Given the description of an element on the screen output the (x, y) to click on. 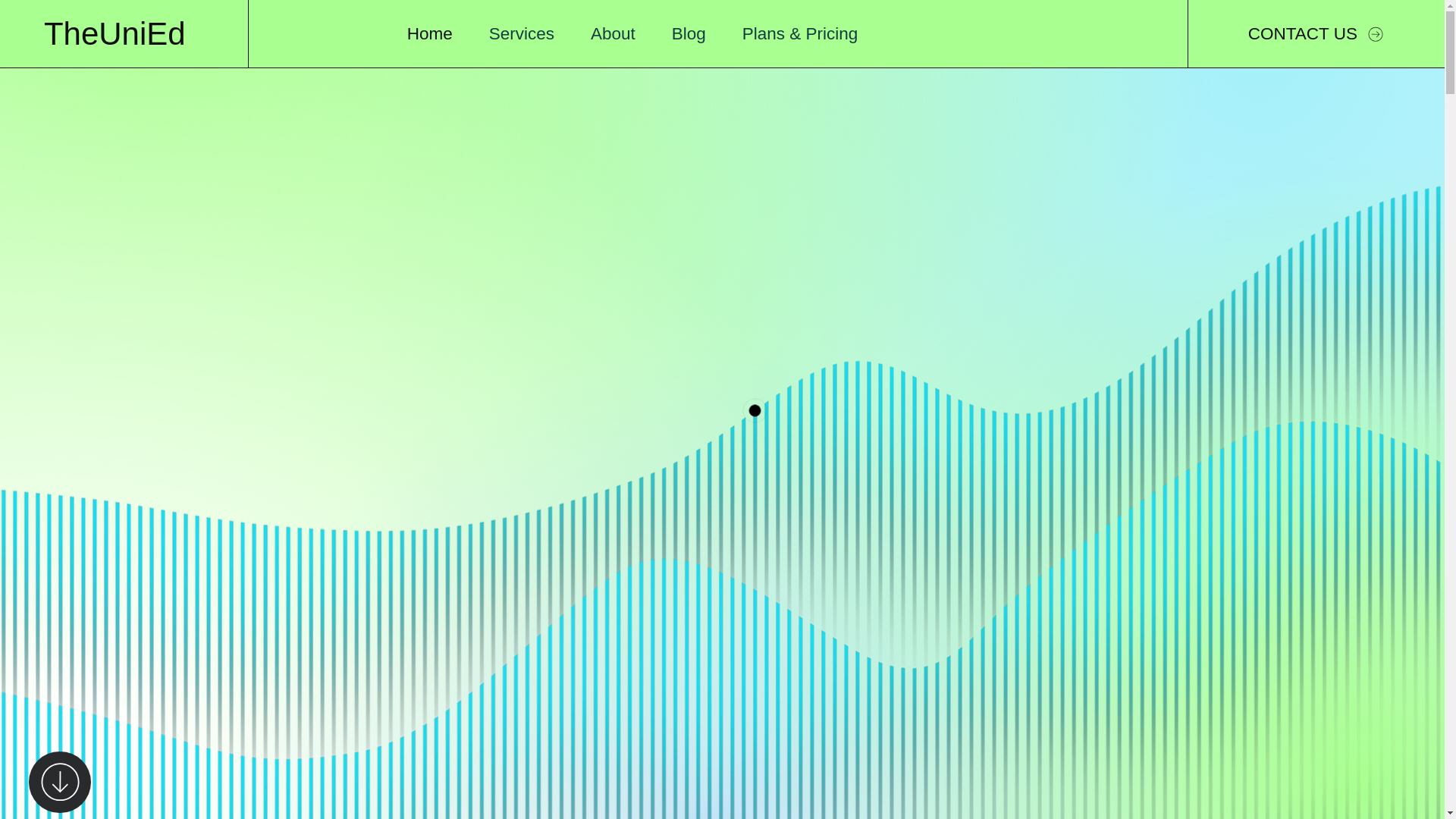
Blog (688, 33)
About (613, 33)
CONTACT US (1316, 33)
Home (429, 33)
Services (521, 33)
